Given the description of an element on the screen output the (x, y) to click on. 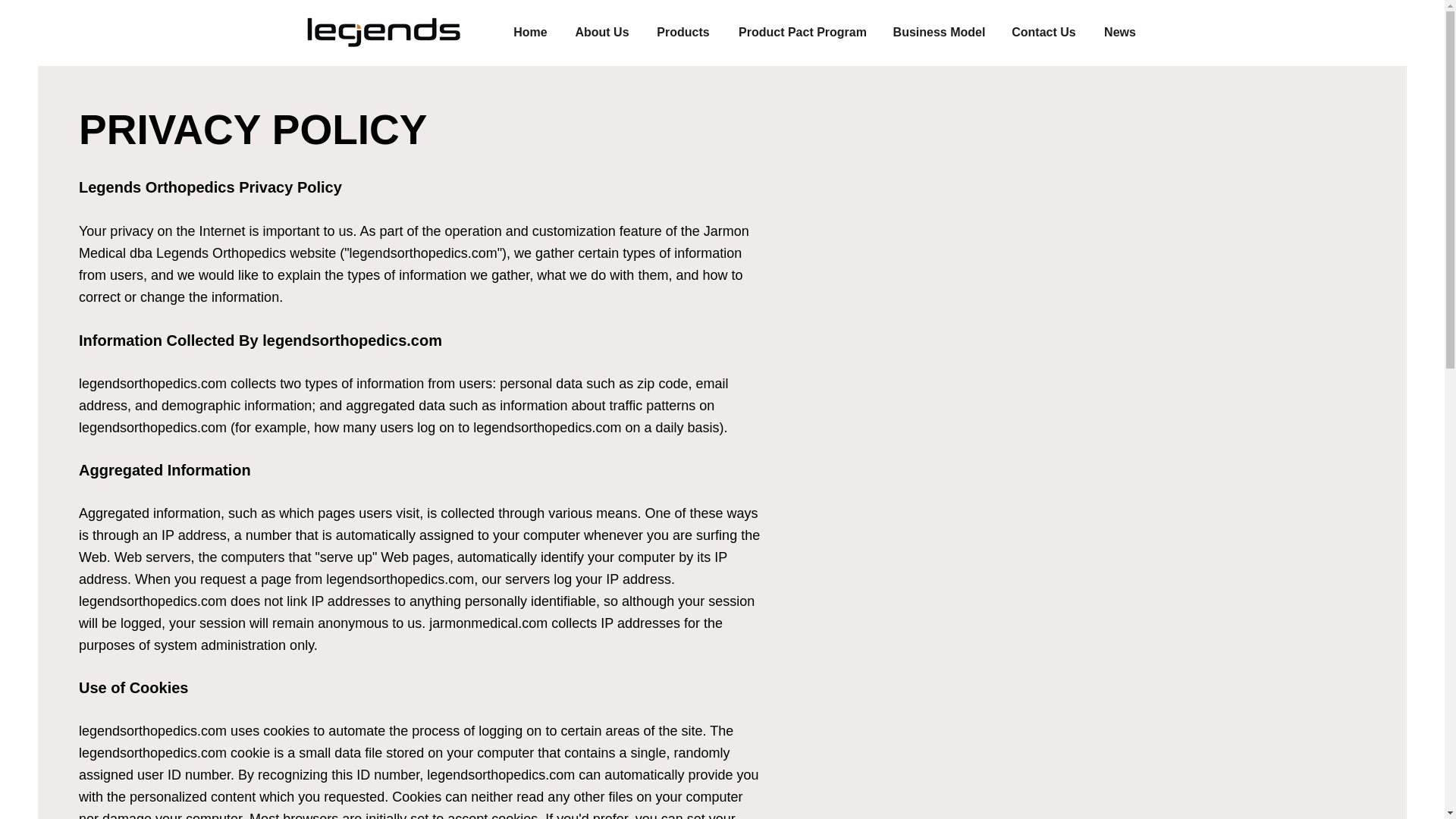
News (1119, 32)
FEMG LETTERING.png (380, 32)
About Us (601, 32)
Contact Us (1042, 32)
Business Model (937, 32)
Home (529, 32)
Product Pact Program (801, 32)
